Given the description of an element on the screen output the (x, y) to click on. 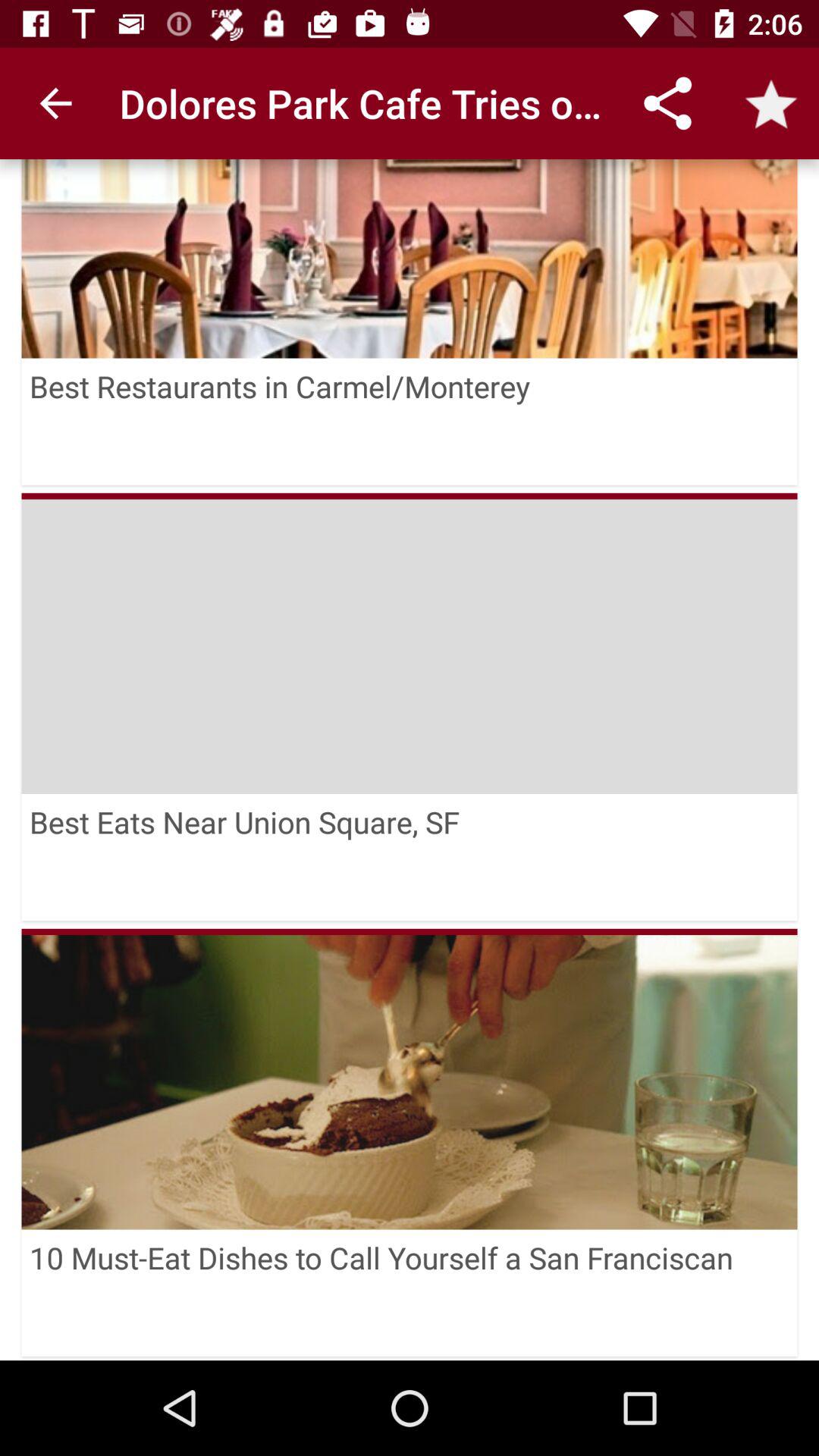
select item next to dolores park cafe (55, 103)
